Given the description of an element on the screen output the (x, y) to click on. 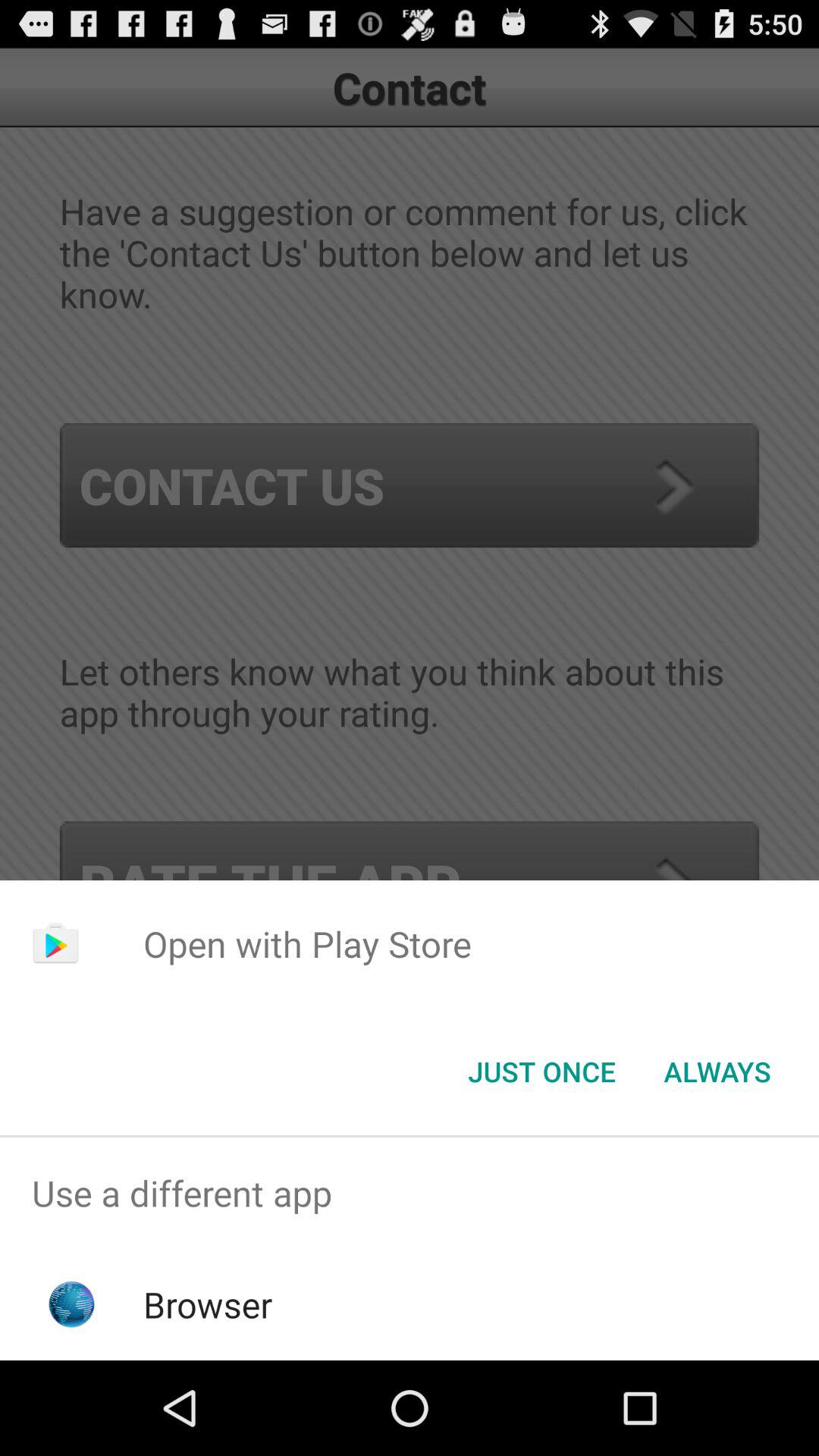
scroll to the browser item (207, 1304)
